Given the description of an element on the screen output the (x, y) to click on. 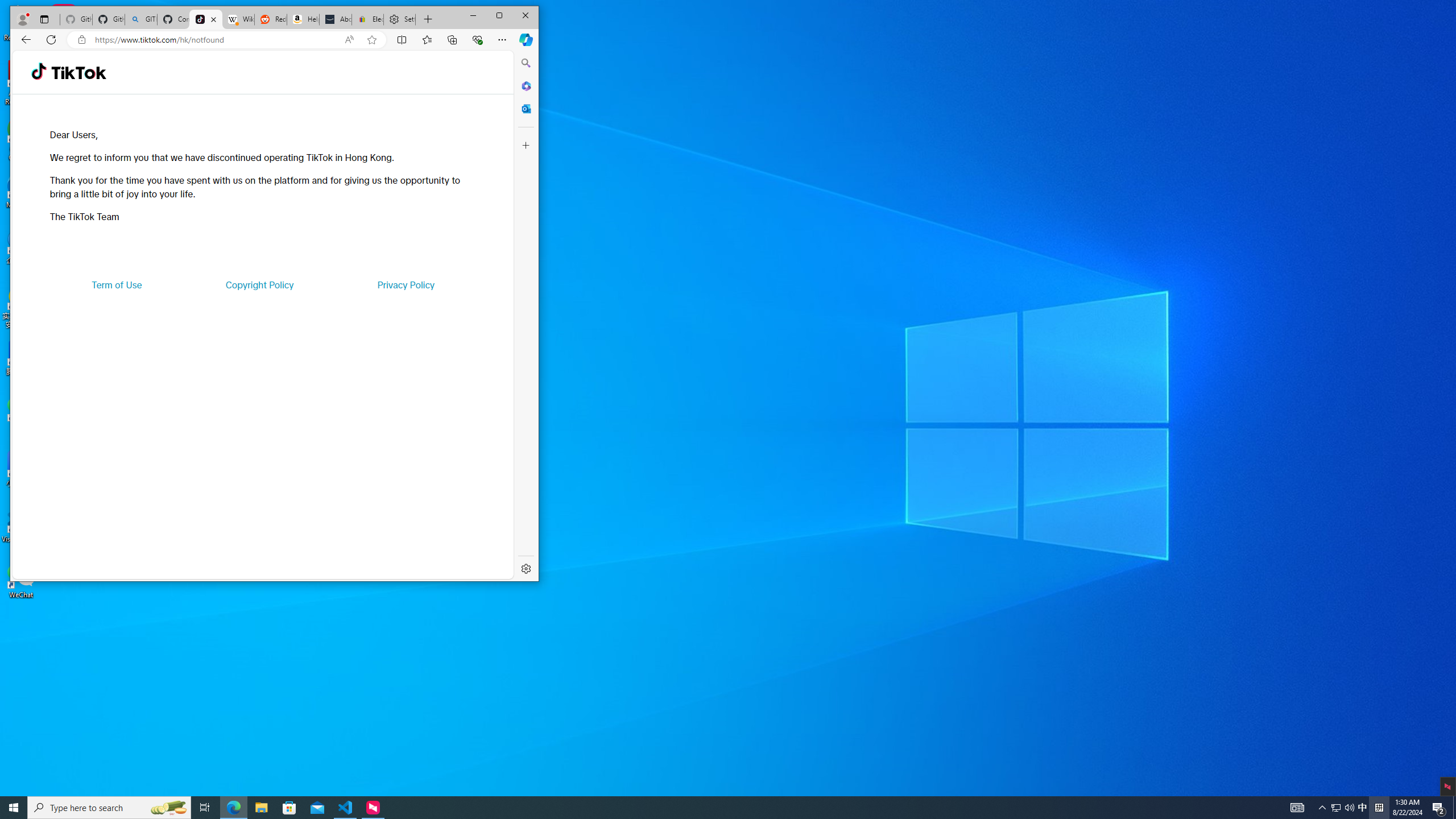
User Promoted Notification Area (1342, 807)
